Given the description of an element on the screen output the (x, y) to click on. 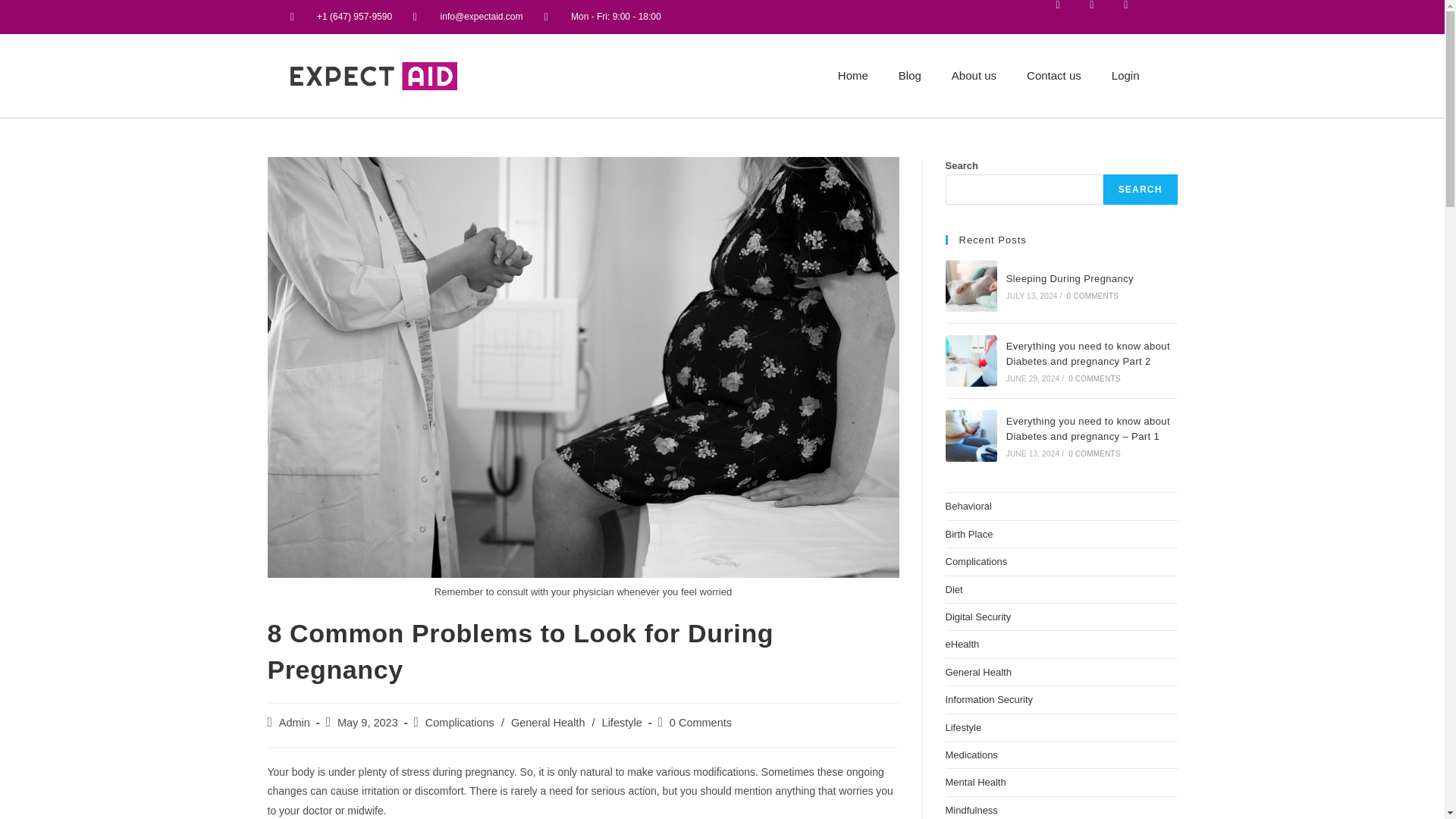
Contact us (1053, 75)
Posts by Admin (294, 722)
Sleeping During Pregnancy (1070, 278)
Sleeping During Pregnancy (969, 286)
0 COMMENTS (1094, 378)
0 COMMENTS (1093, 295)
Complications (460, 722)
Lifestyle (622, 722)
Admin (294, 722)
About us (973, 75)
0 Comments (700, 722)
SEARCH (1140, 189)
General Health (548, 722)
